Given the description of an element on the screen output the (x, y) to click on. 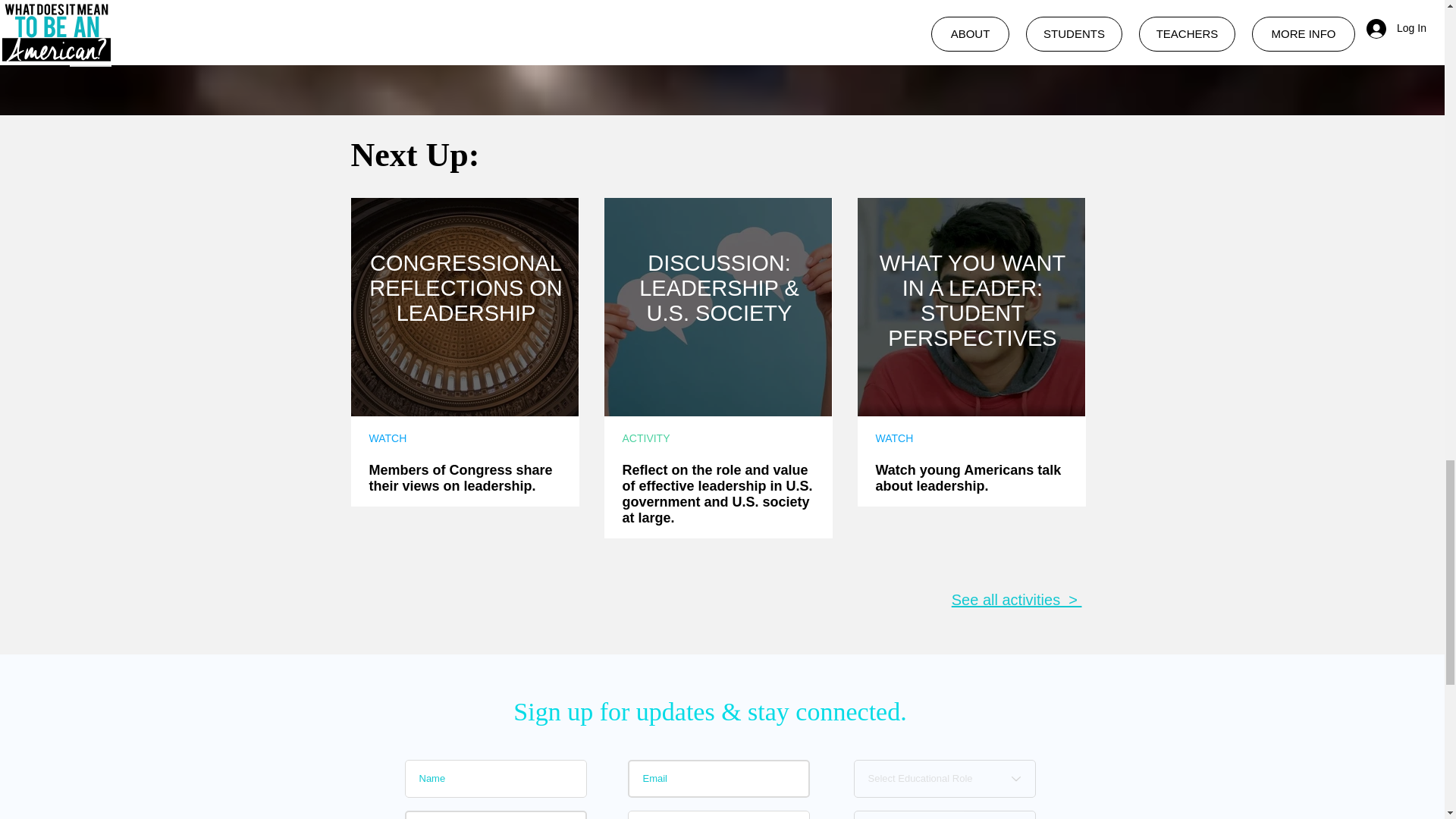
Source (90, 56)
